Given the description of an element on the screen output the (x, y) to click on. 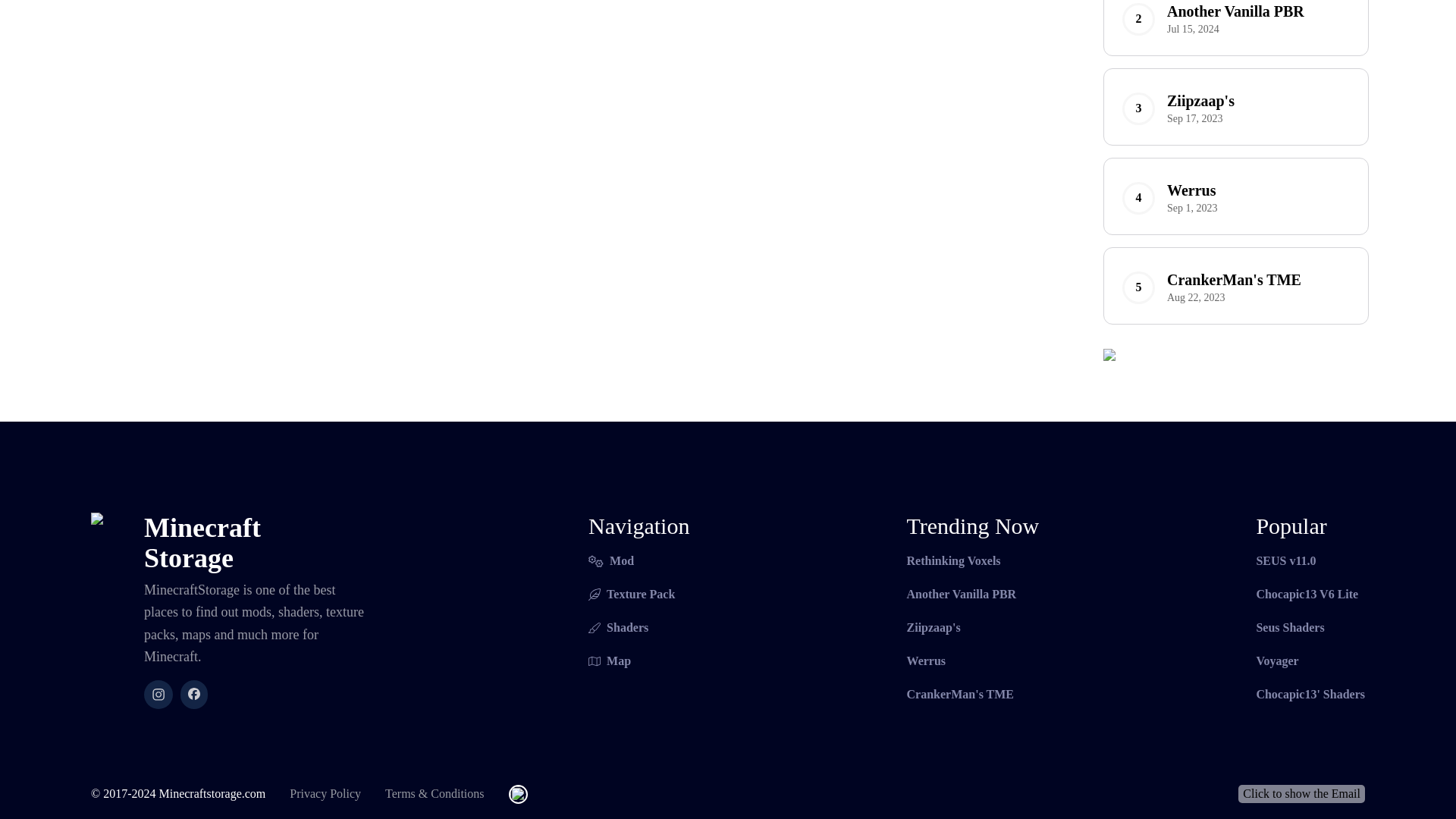
Mod (638, 561)
Chocapic13 V6 Lite (1235, 196)
Another Vanilla PBR (1310, 594)
Werrus (973, 594)
Map (973, 660)
Rethinking Voxels (638, 660)
Chocapic13' Shaders (973, 561)
SEUS v11.0 (1235, 106)
